Given the description of an element on the screen output the (x, y) to click on. 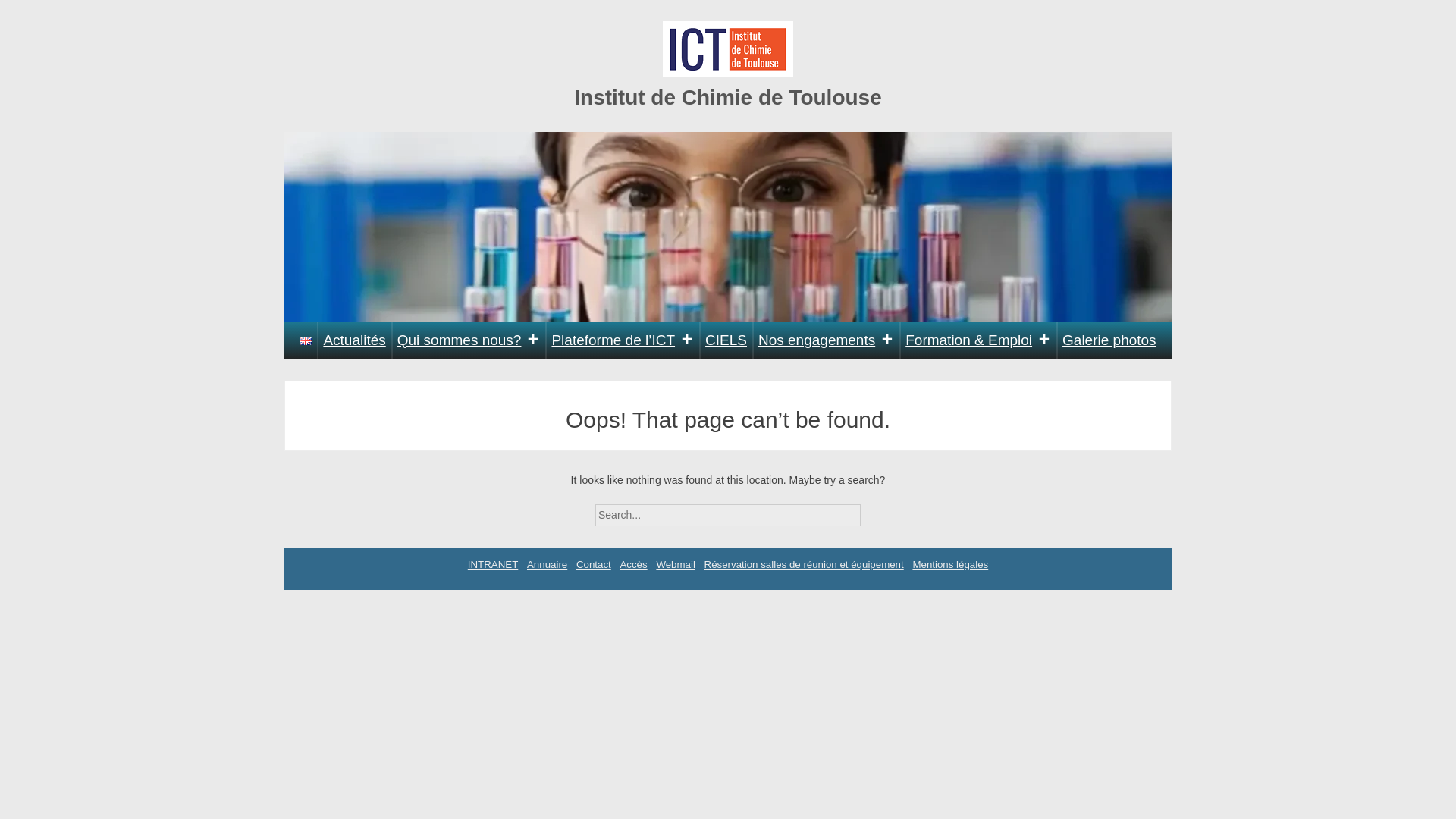
Institut de Chimie de Toulouse (727, 97)
CIELS (726, 340)
Nos engagements (825, 340)
Search (873, 509)
Qui sommes nous? (468, 340)
Search (873, 509)
